Given the description of an element on the screen output the (x, y) to click on. 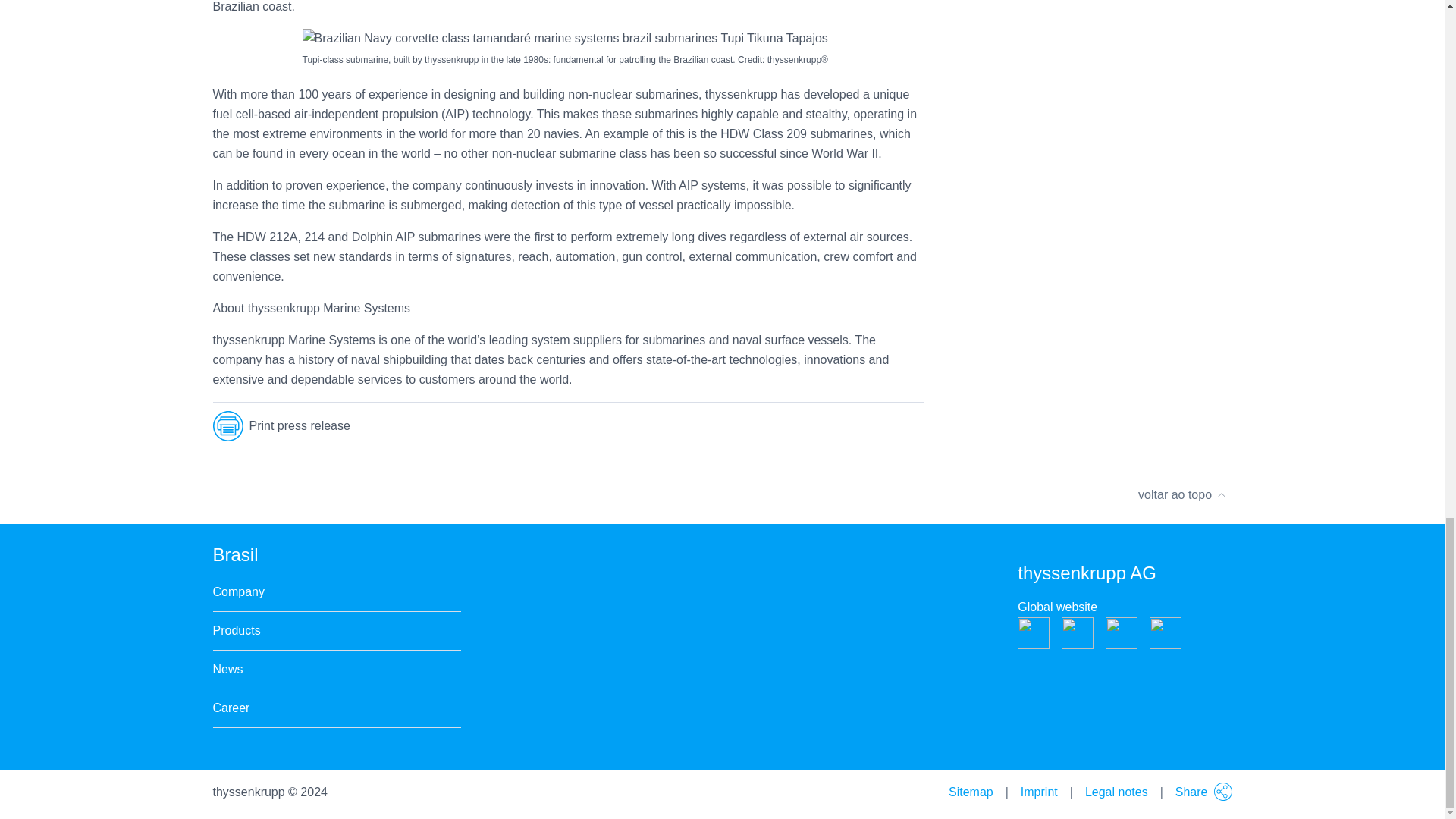
News (227, 669)
X (787, 427)
Company (237, 591)
arrow-up (1220, 494)
tk-share (1221, 791)
Legal notes (1116, 792)
Products (236, 630)
Imprint (1039, 792)
Global website (1057, 607)
voltar ao topo arrow-up (721, 495)
